Given the description of an element on the screen output the (x, y) to click on. 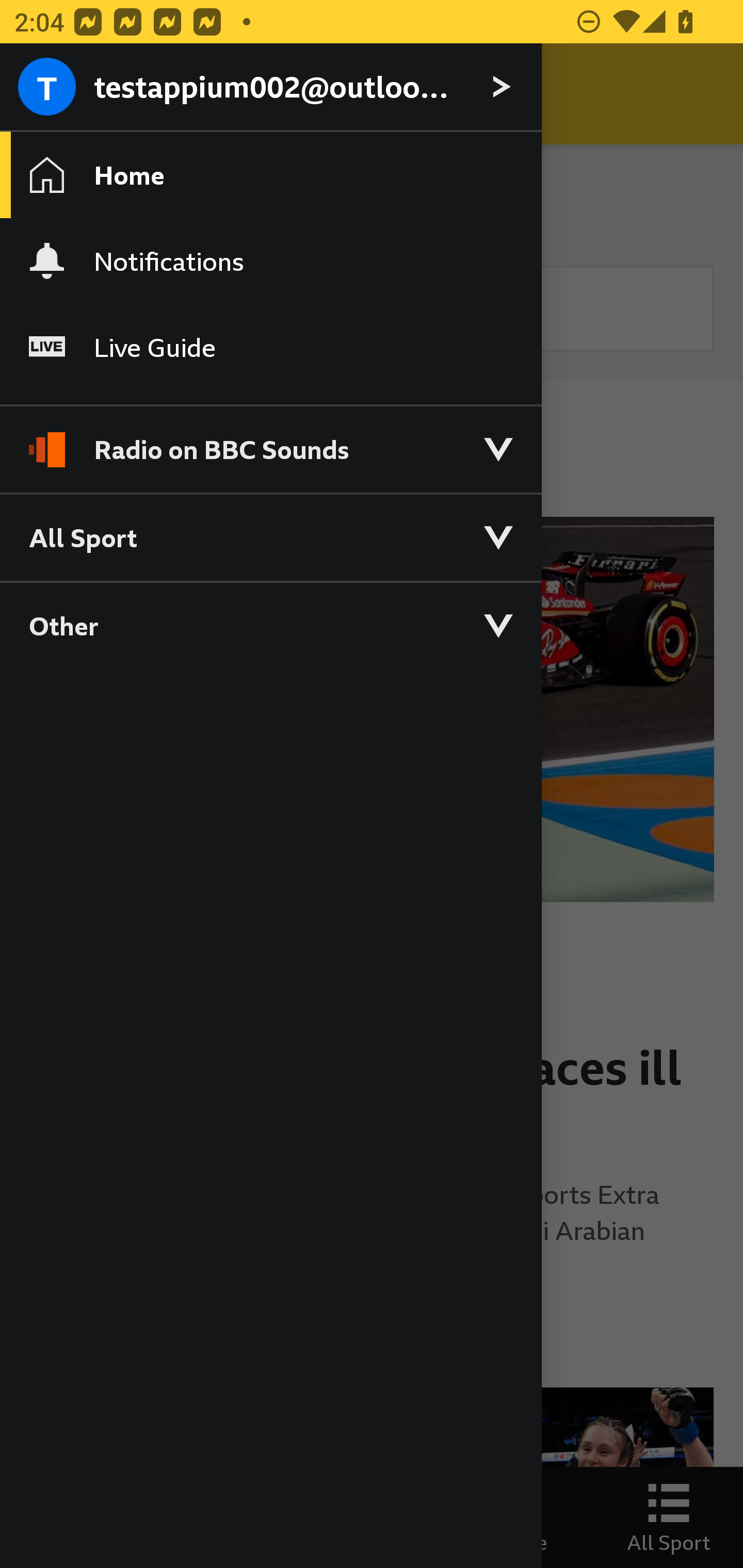
Close Menu (50, 93)
testappium002@outlook.com (270, 87)
Home (270, 174)
Notifications (270, 260)
Live Guide (270, 347)
Radio on BBC Sounds (270, 441)
All Sport (270, 536)
Other (270, 624)
